Given the description of an element on the screen output the (x, y) to click on. 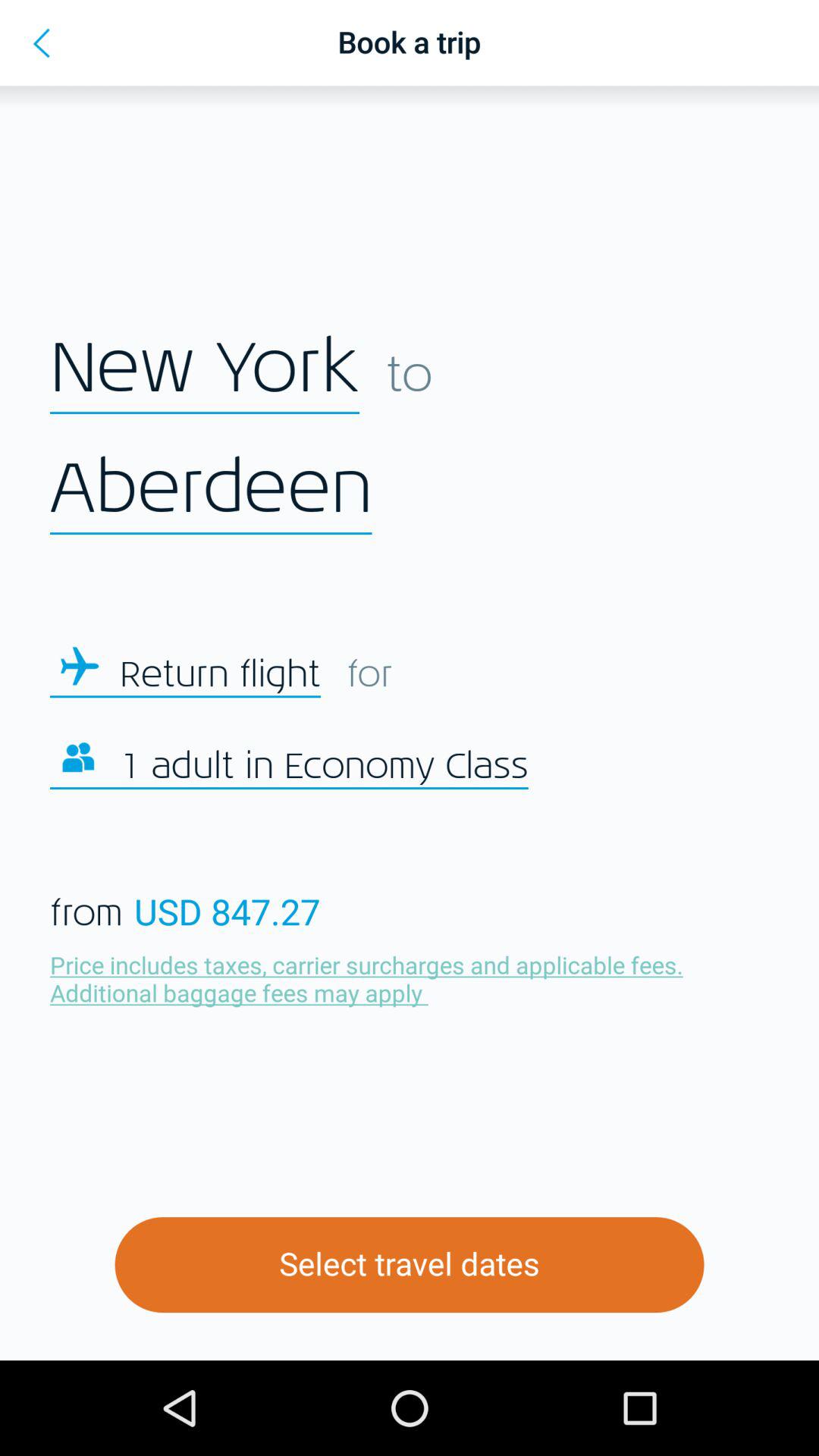
open new york icon (204, 368)
